Given the description of an element on the screen output the (x, y) to click on. 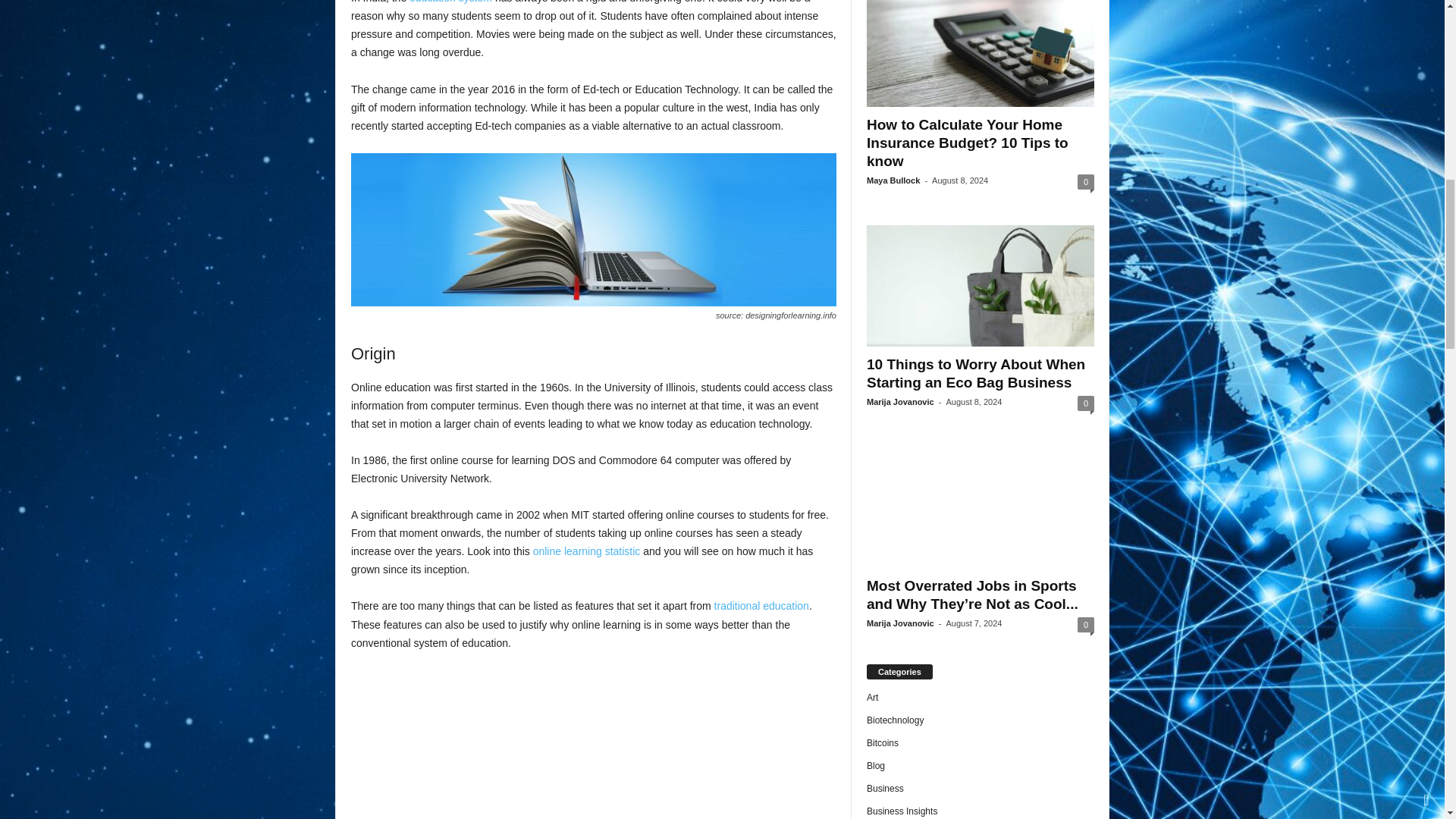
online learning statistic (586, 551)
traditional education (761, 605)
education system (450, 2)
